Given the description of an element on the screen output the (x, y) to click on. 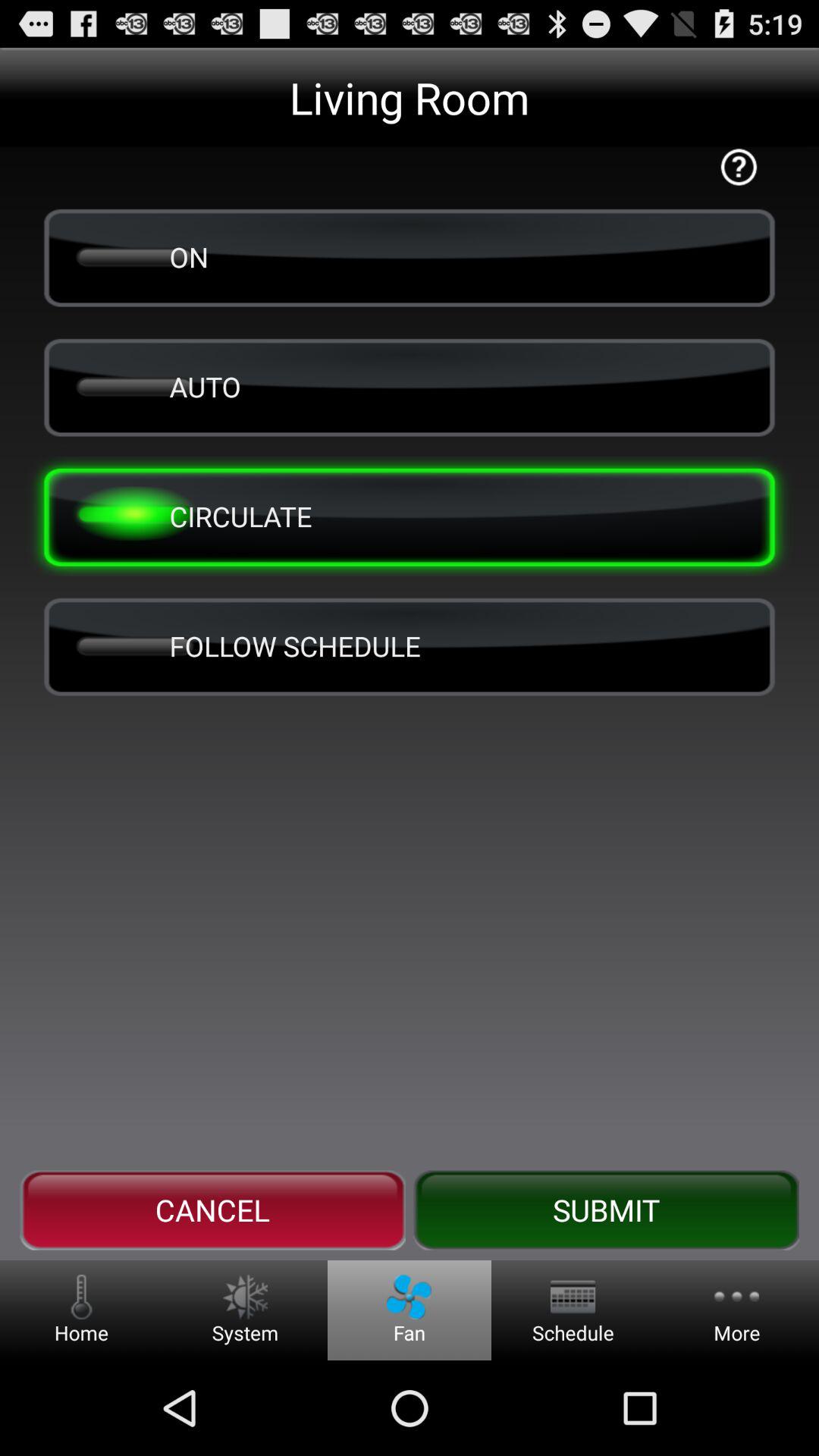
choose icon below the follow schedule item (212, 1210)
